Given the description of an element on the screen output the (x, y) to click on. 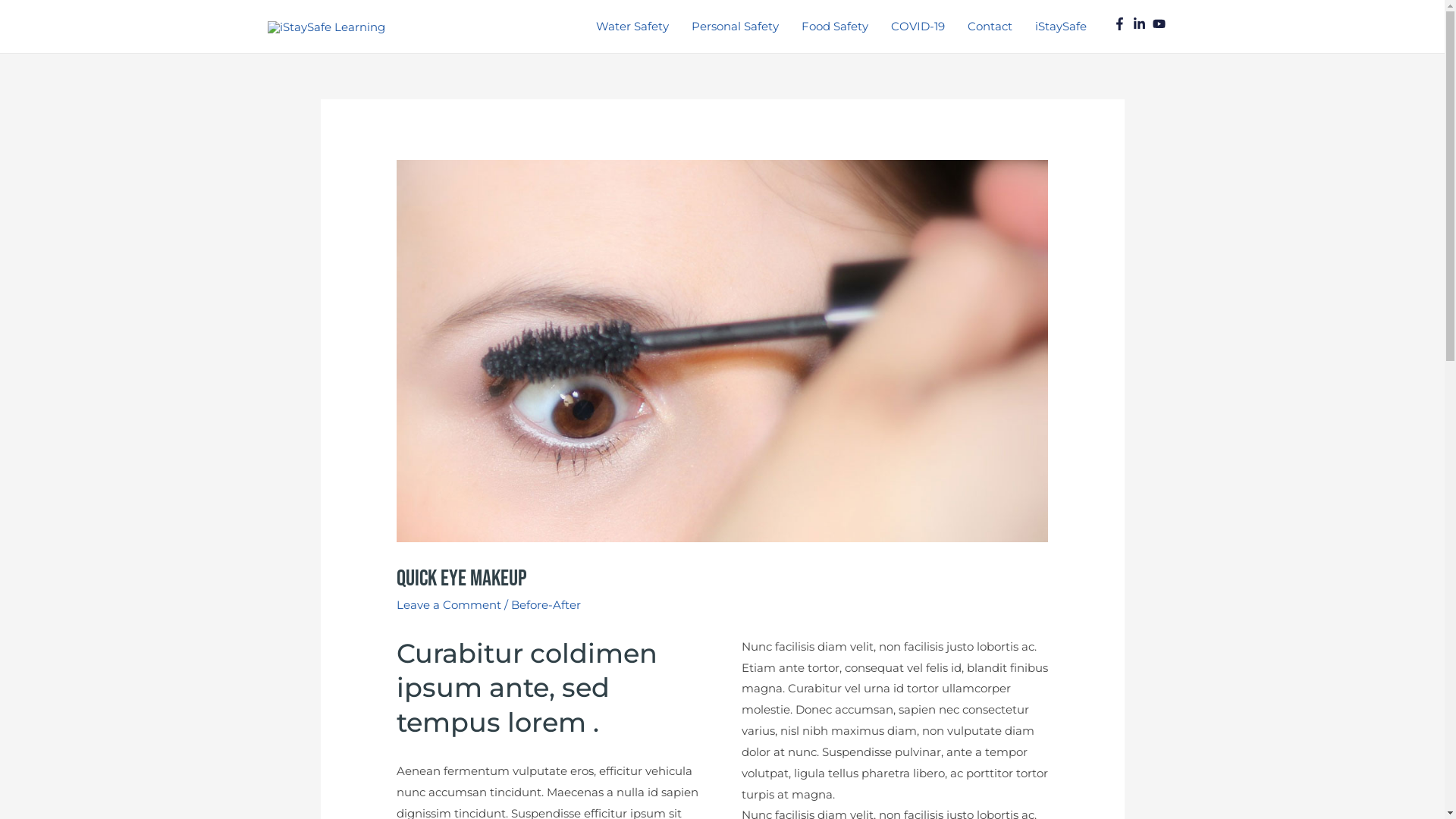
Before-After Element type: text (545, 604)
Leave a Comment Element type: text (448, 604)
Water Safety Element type: text (632, 26)
COVID-19 Element type: text (917, 26)
iStaySafe Element type: text (1060, 26)
Personal Safety Element type: text (735, 26)
Food Safety Element type: text (834, 26)
Contact Element type: text (989, 26)
